Given the description of an element on the screen output the (x, y) to click on. 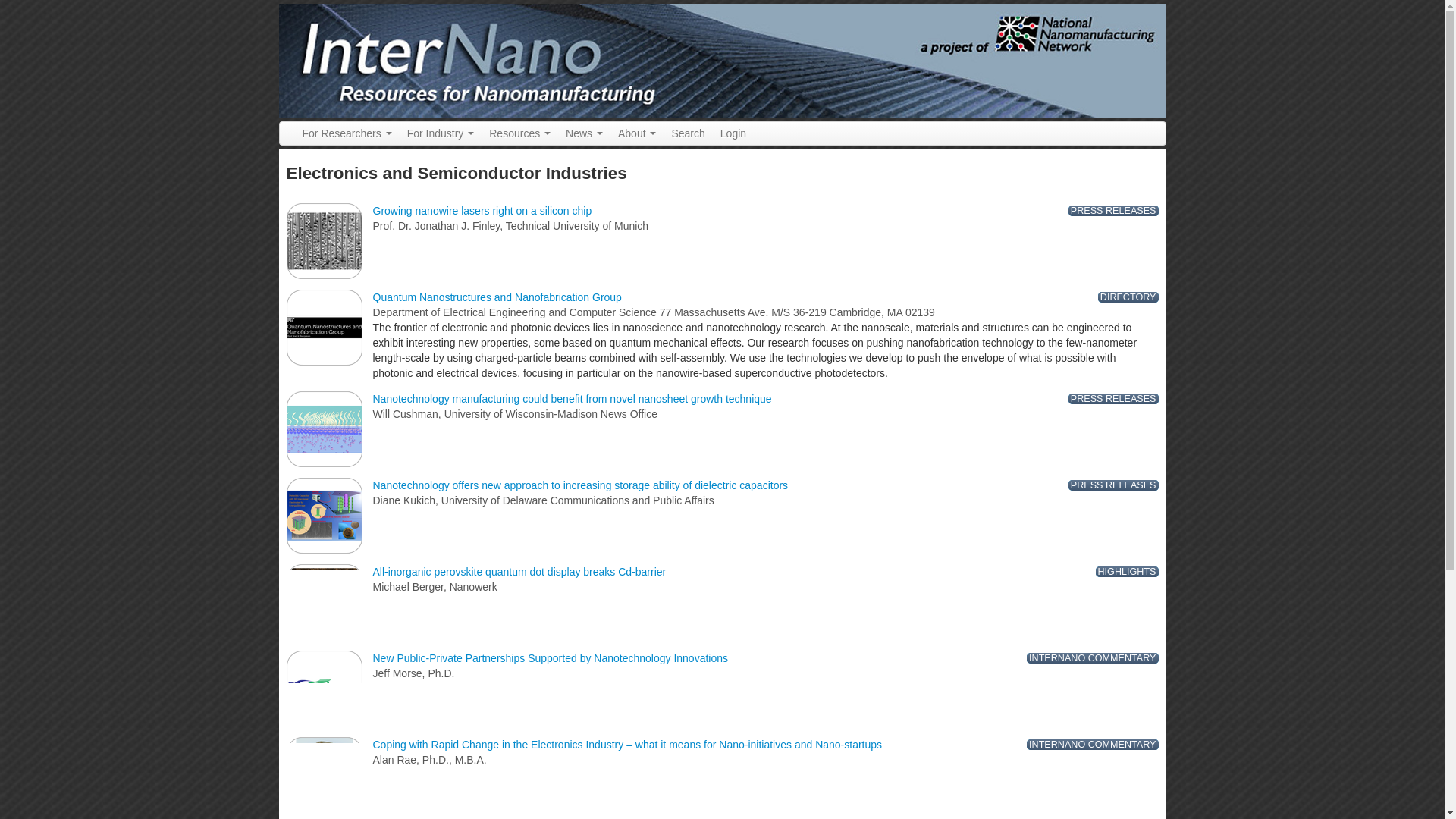
For Industry (439, 133)
Home (722, 60)
News (583, 133)
Resources (519, 133)
For Researchers (346, 133)
Skip to content (34, 4)
